Given the description of an element on the screen output the (x, y) to click on. 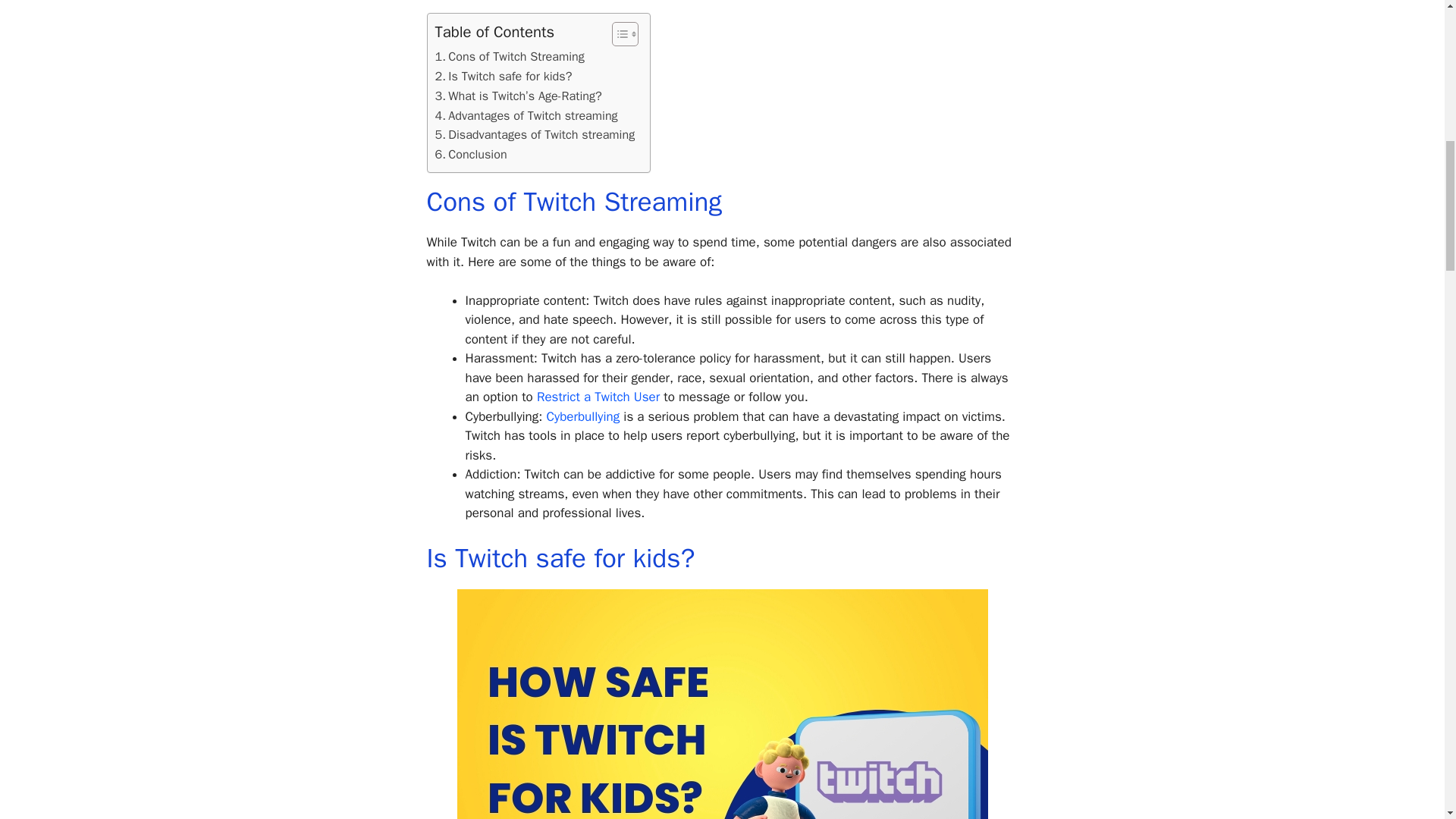
Restrict a Twitch User (598, 396)
Conclusion (470, 154)
Cons of Twitch Streaming (510, 56)
Cons of Twitch Streaming (510, 56)
Conclusion (470, 154)
Cyberbullying (583, 416)
Is Twitch safe for kids? (503, 76)
Advantages of Twitch streaming (526, 116)
Advantages of Twitch streaming (526, 116)
Disadvantages of Twitch streaming (534, 134)
Disadvantages of Twitch streaming (534, 134)
Is Twitch safe for kids? (503, 76)
